Given the description of an element on the screen output the (x, y) to click on. 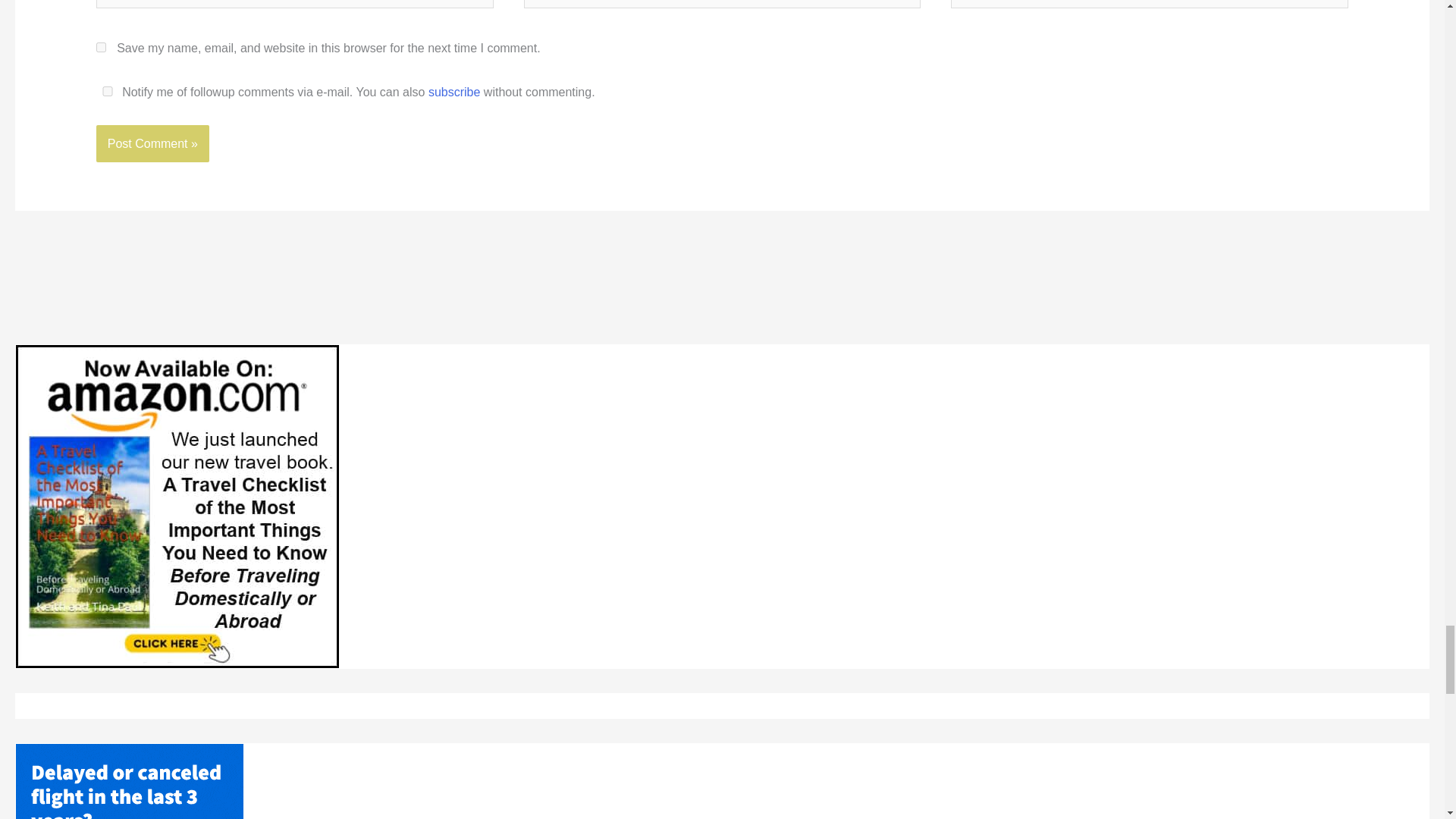
yes (101, 47)
yes (107, 91)
AirHelp get compensation (129, 781)
